Given the description of an element on the screen output the (x, y) to click on. 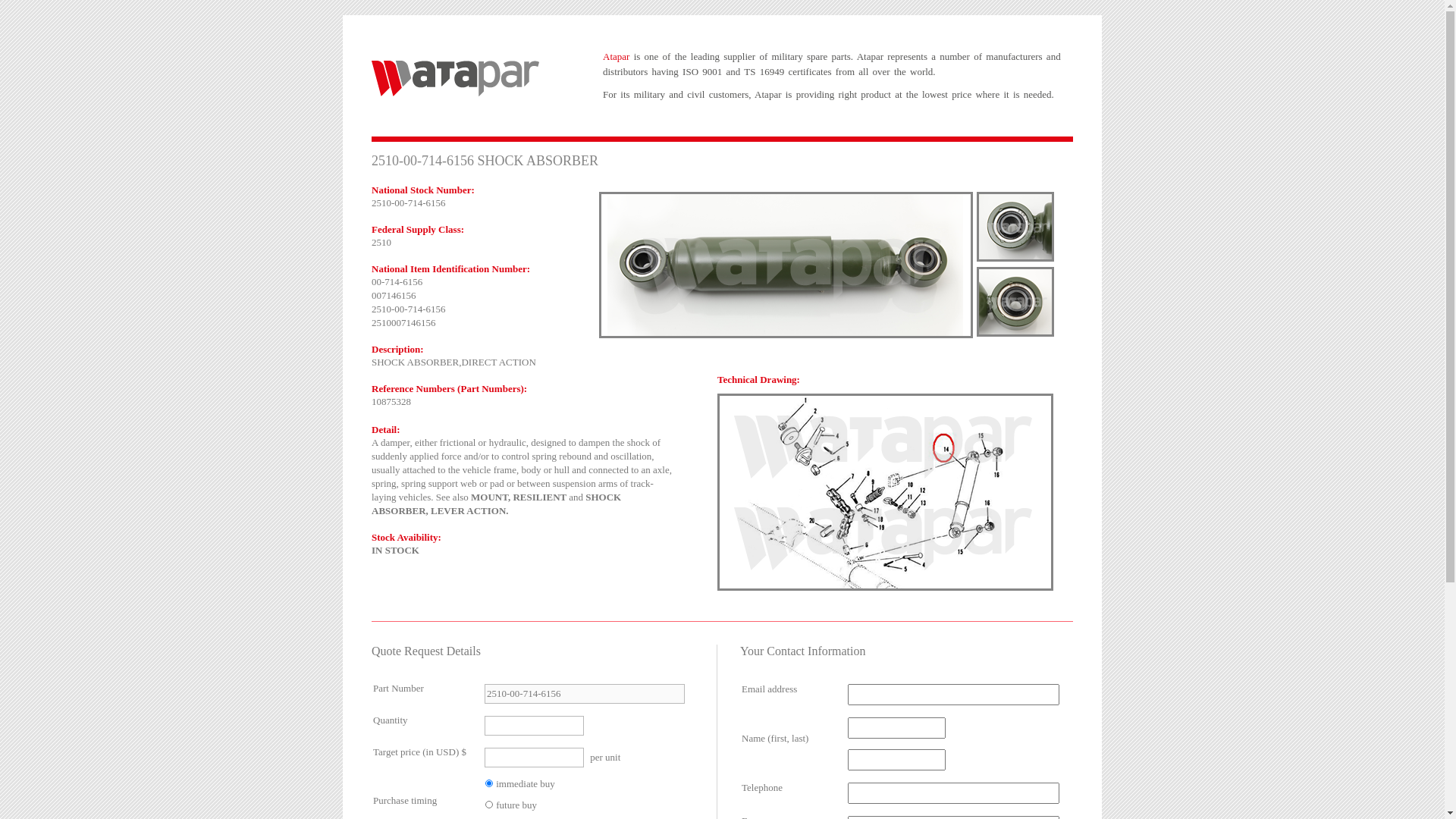
Atapar Element type: hover (455, 78)
2510-00-714-6156 Element type: hover (785, 264)
2510-00-714-6156 Element type: hover (1015, 226)
2510-00-714-6156 Element type: hover (1015, 301)
